Given the description of an element on the screen output the (x, y) to click on. 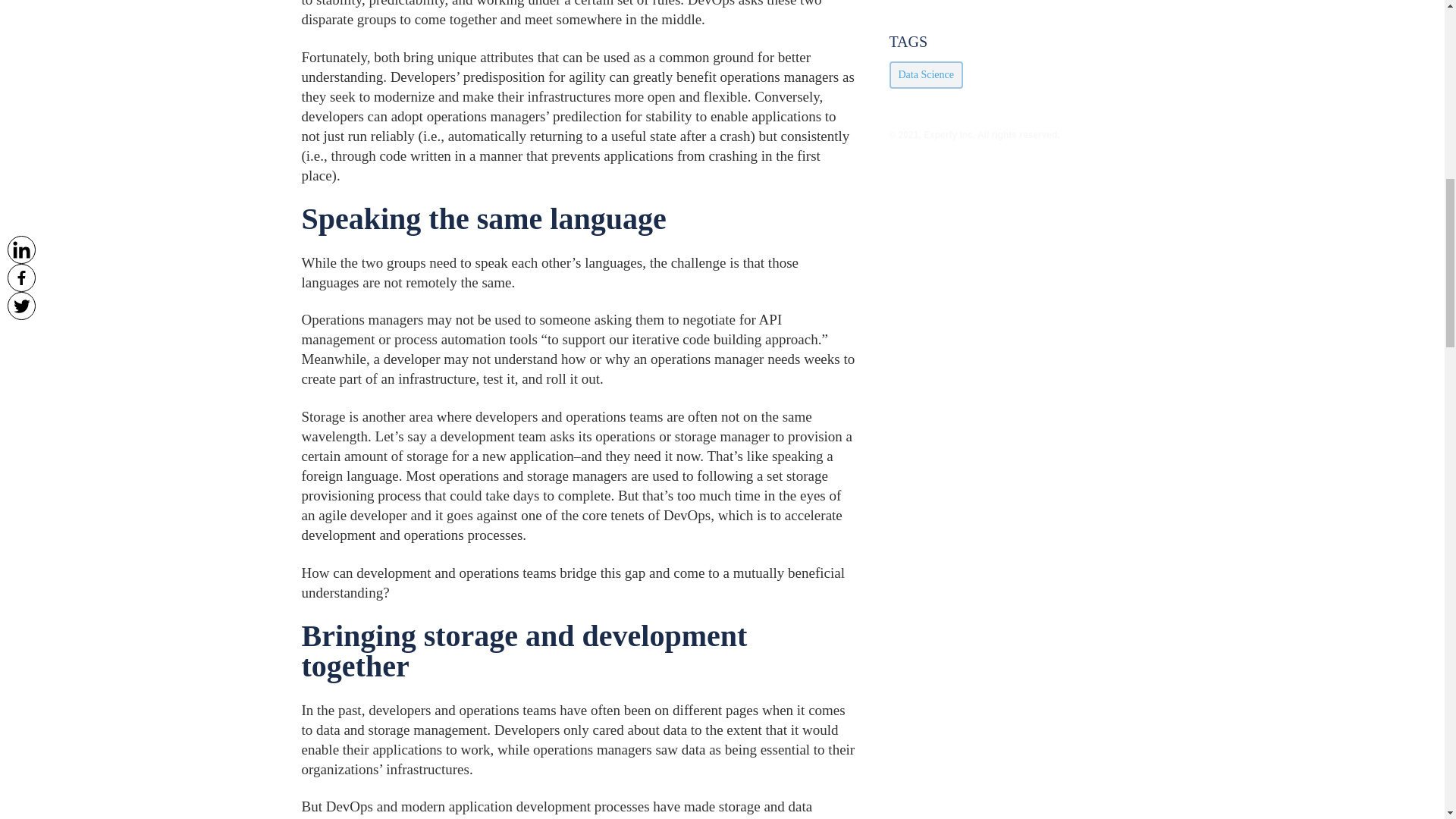
Data Science (925, 74)
